Given the description of an element on the screen output the (x, y) to click on. 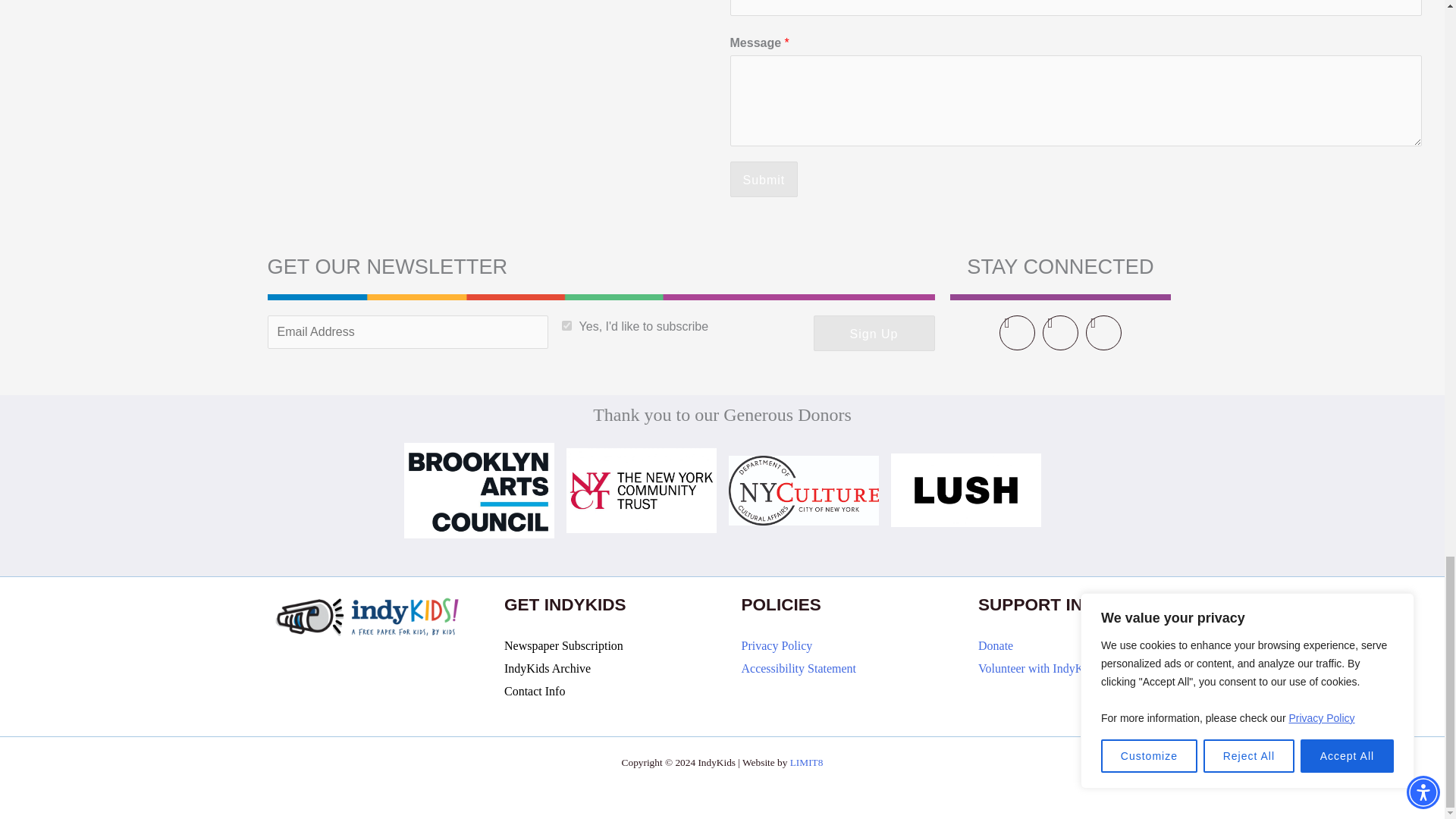
1 (567, 325)
